Given the description of an element on the screen output the (x, y) to click on. 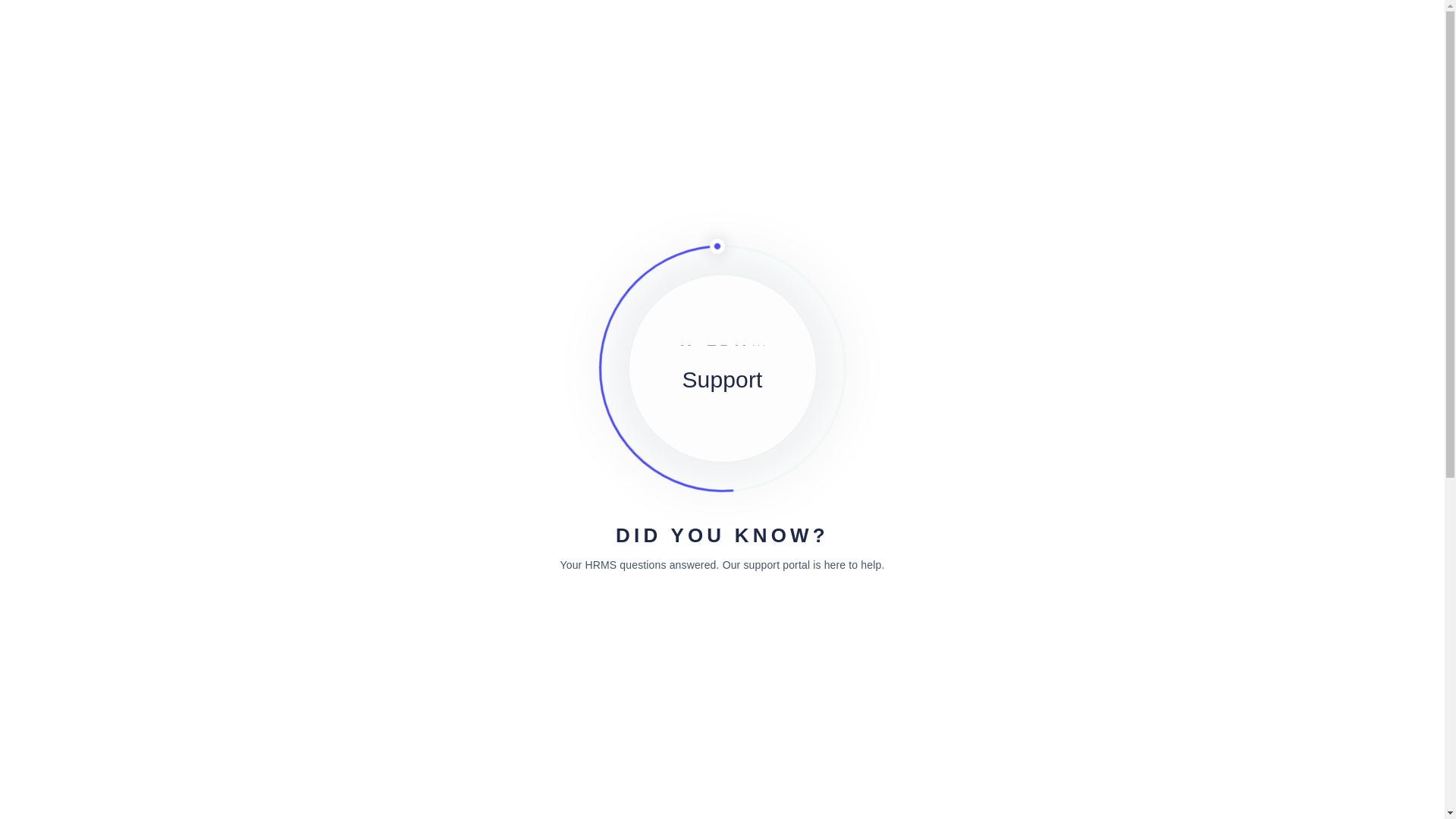
Search (1186, 310)
Toggle dark mode (1176, 18)
Get Started (1093, 18)
